Given the description of an element on the screen output the (x, y) to click on. 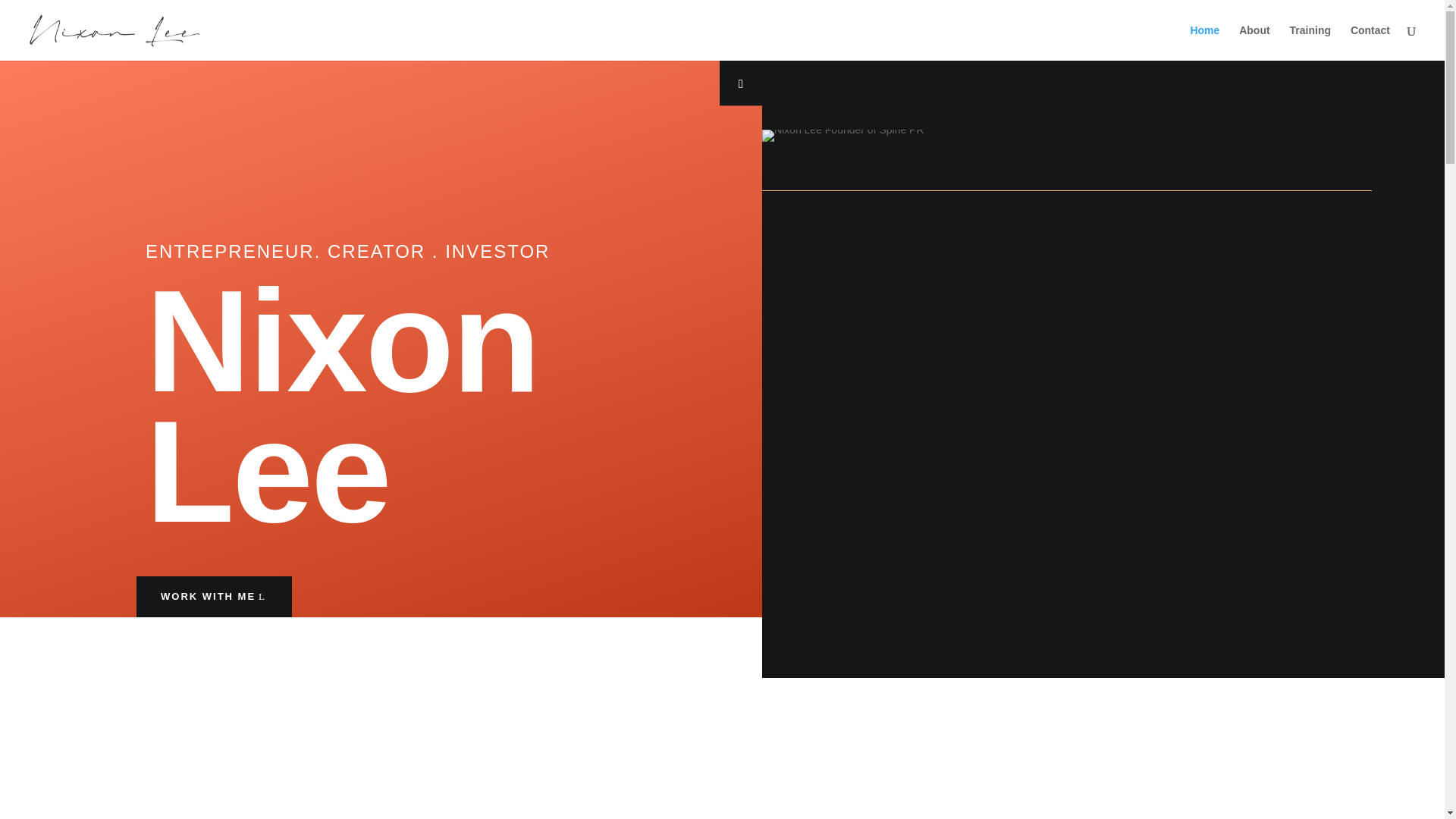
Nixon Lee Founder of Spine PR (842, 135)
Contact (1370, 42)
Follow on Facebook (740, 41)
Training (1310, 42)
Follow on LinkedIn (740, 84)
Follow on Youtube (740, 10)
WORK WITH ME (214, 596)
